Given the description of an element on the screen output the (x, y) to click on. 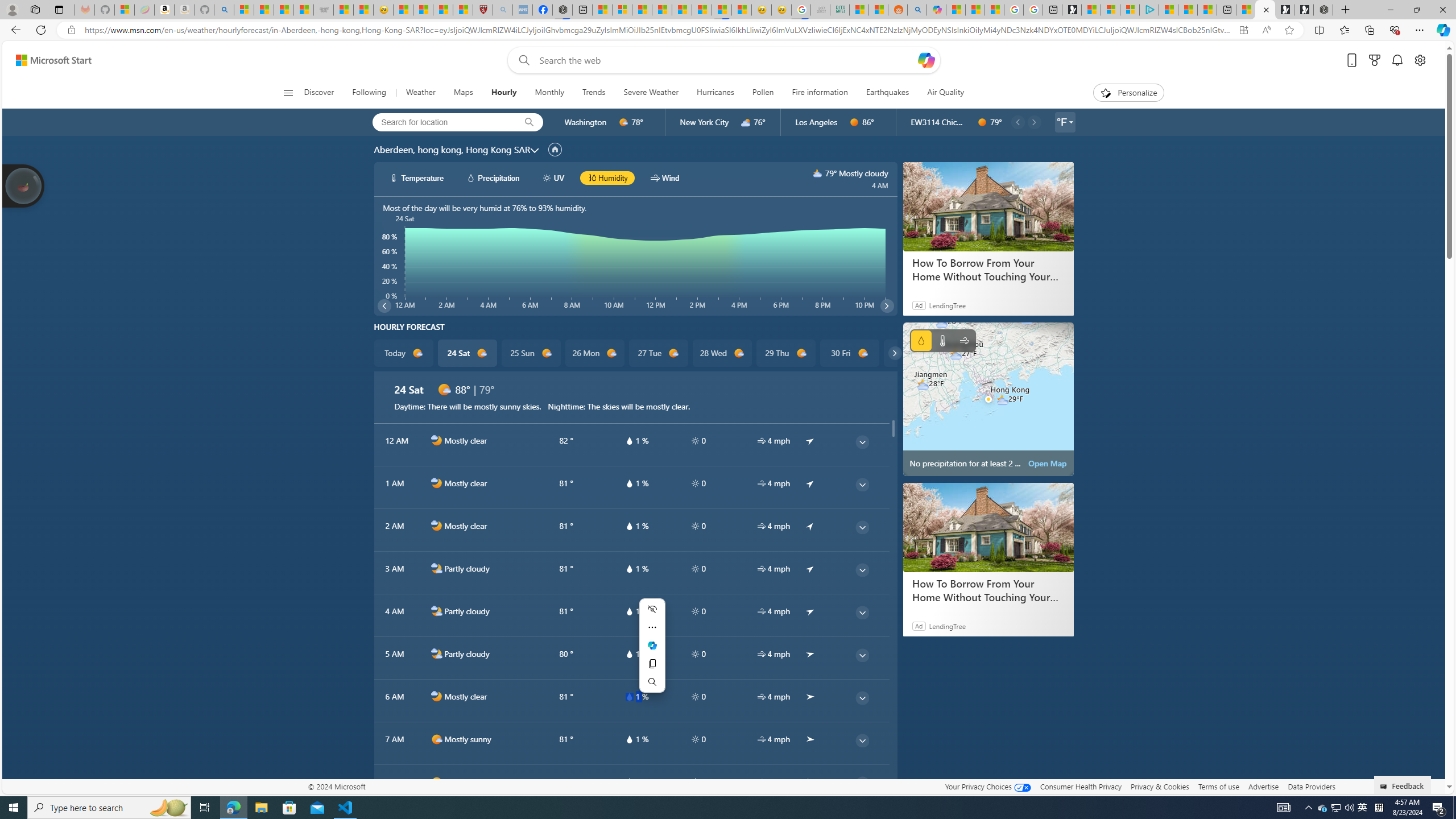
Air Quality (945, 92)
24 Sat d1000 (466, 352)
hourlyChart/humidityBlack Humidity (606, 178)
locationBar/search (529, 121)
27 Tue d1000 (658, 352)
Pollen (762, 92)
